Given the description of an element on the screen output the (x, y) to click on. 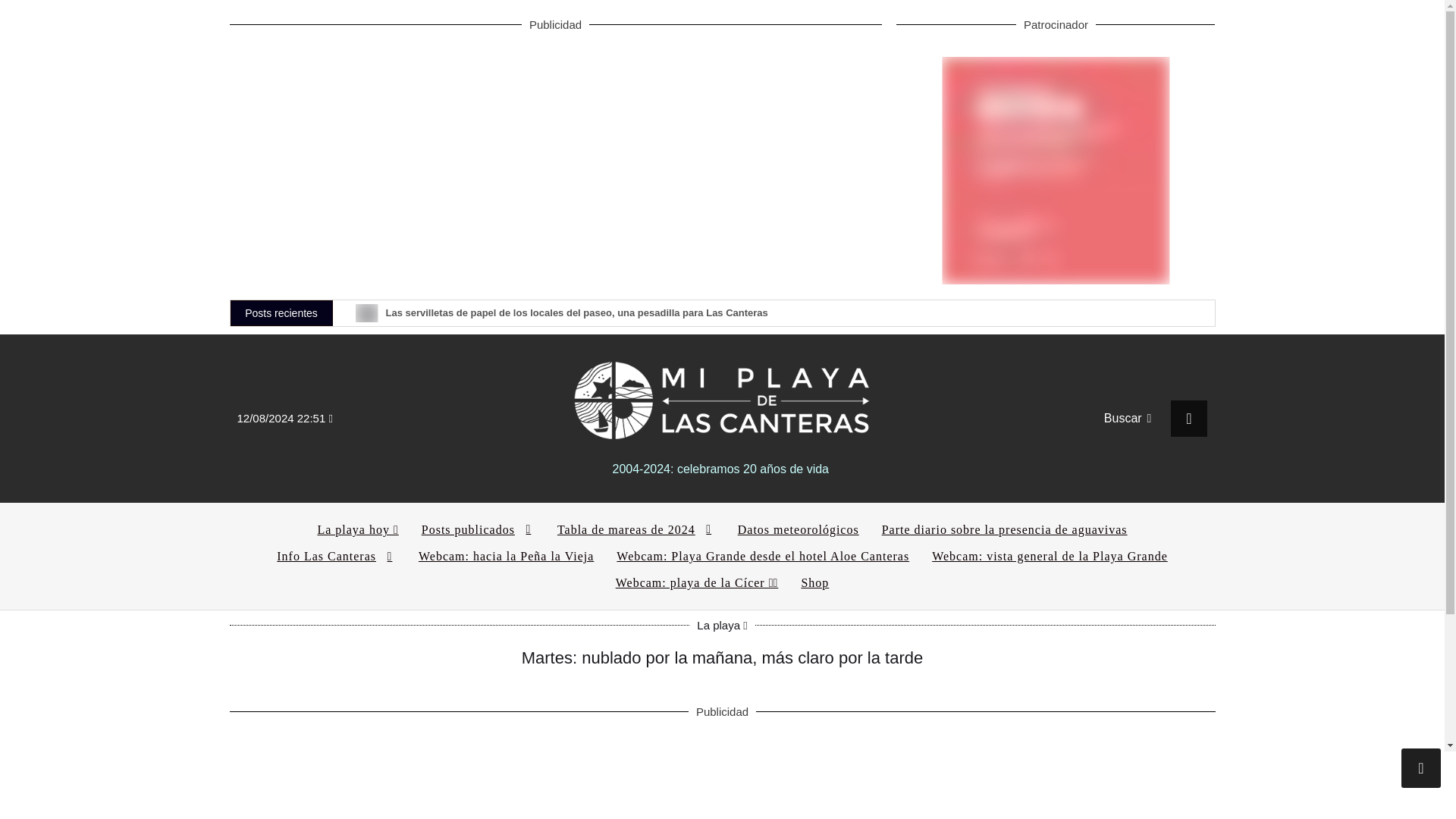
Posts recientes (281, 312)
www.miplayadelascanteras.com (721, 397)
